Given the description of an element on the screen output the (x, y) to click on. 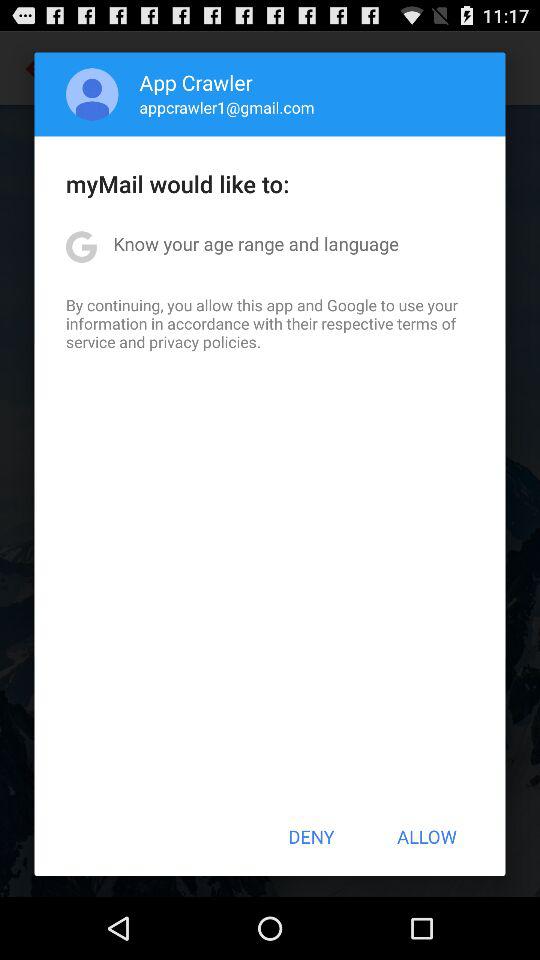
turn on the app to the left of app crawler icon (92, 94)
